Given the description of an element on the screen output the (x, y) to click on. 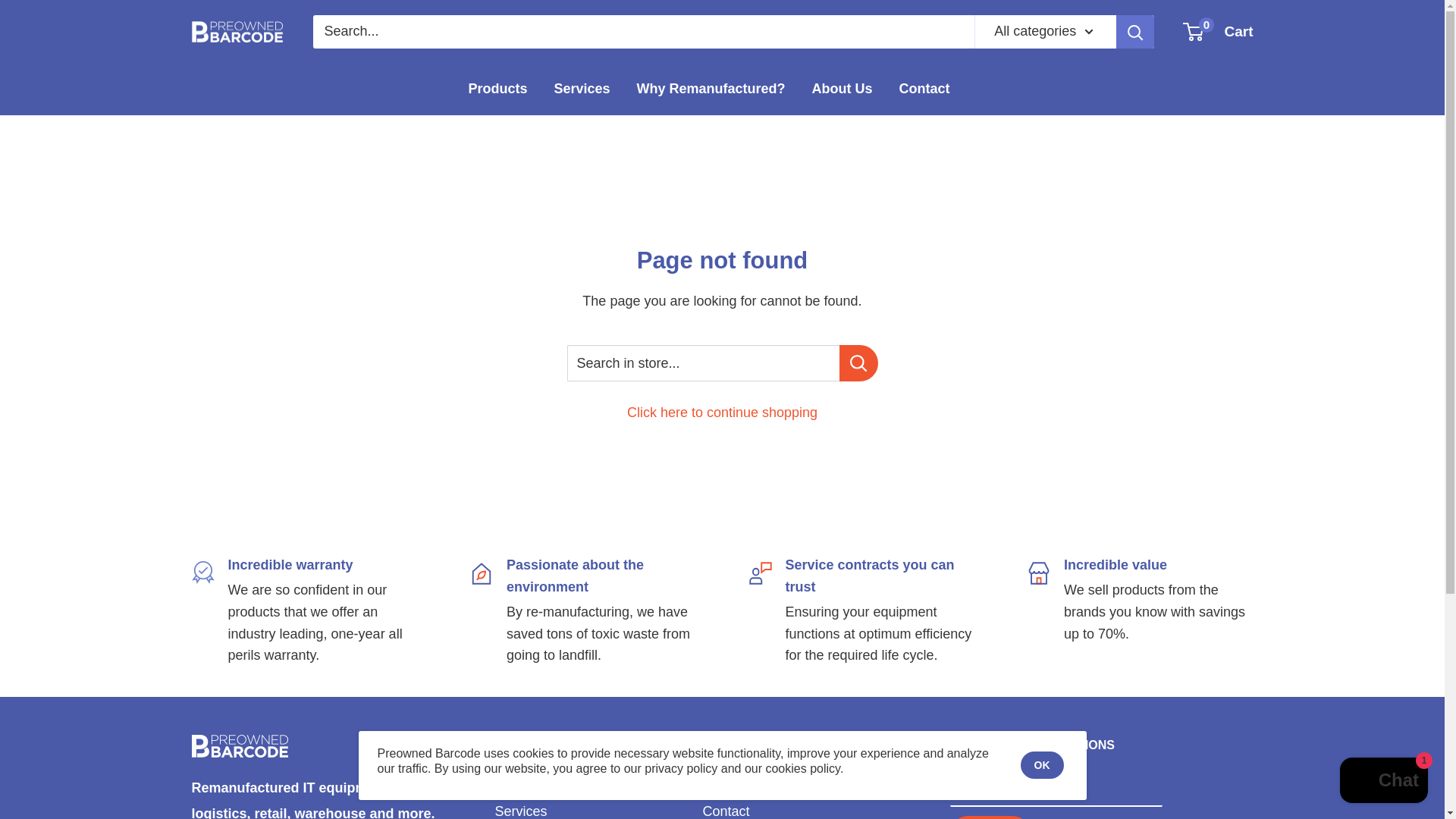
Preowned Barcode (236, 32)
About Us (798, 777)
Why Remanufactured? (711, 89)
Contact (924, 89)
About Us (842, 89)
Products (591, 777)
Products (497, 89)
Click here to continue shopping (721, 412)
Shopify online store chat (1383, 781)
Services (1218, 31)
QUICK LINKS (581, 89)
Services (695, 744)
SUBSCRIBE (591, 808)
